Given the description of an element on the screen output the (x, y) to click on. 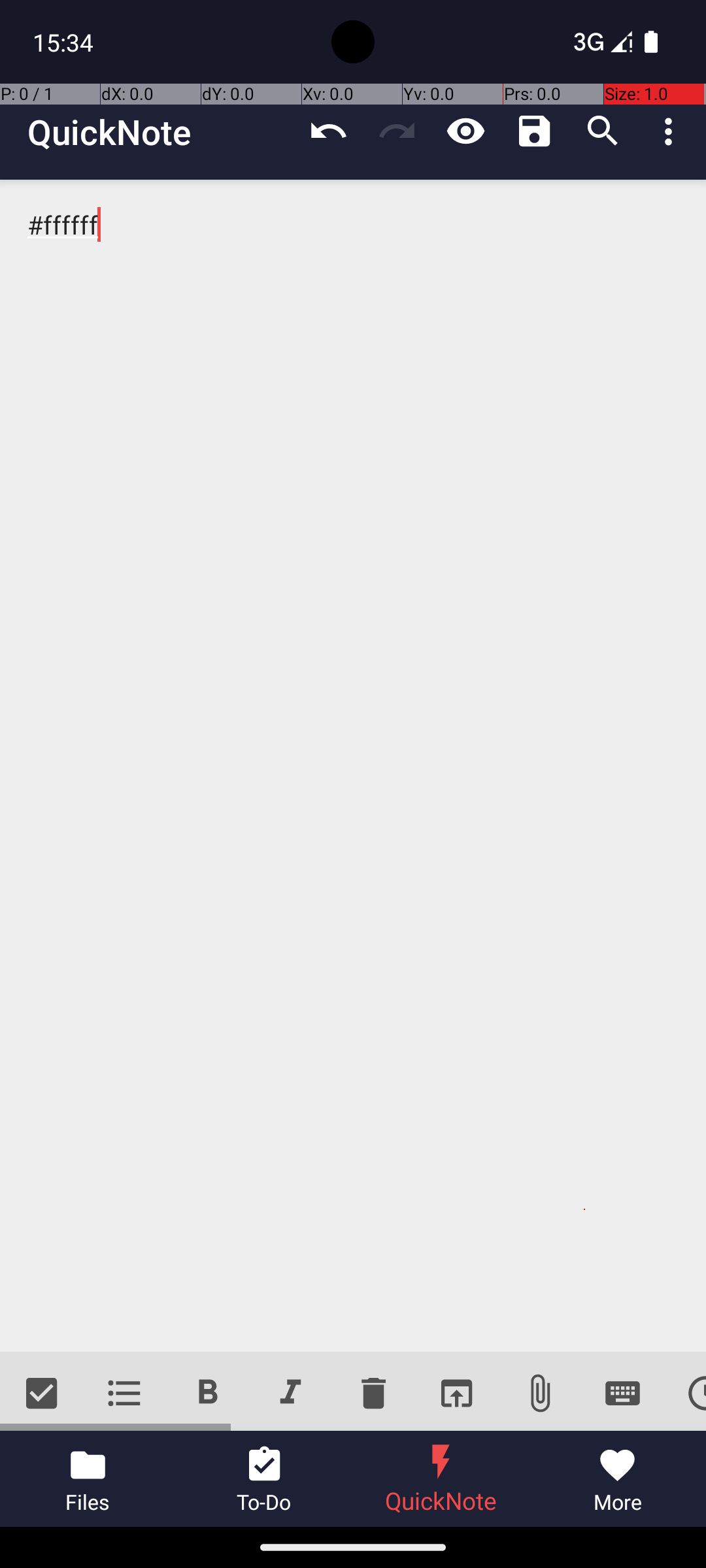
#ffffff Element type: android.widget.EditText (353, 765)
